Given the description of an element on the screen output the (x, y) to click on. 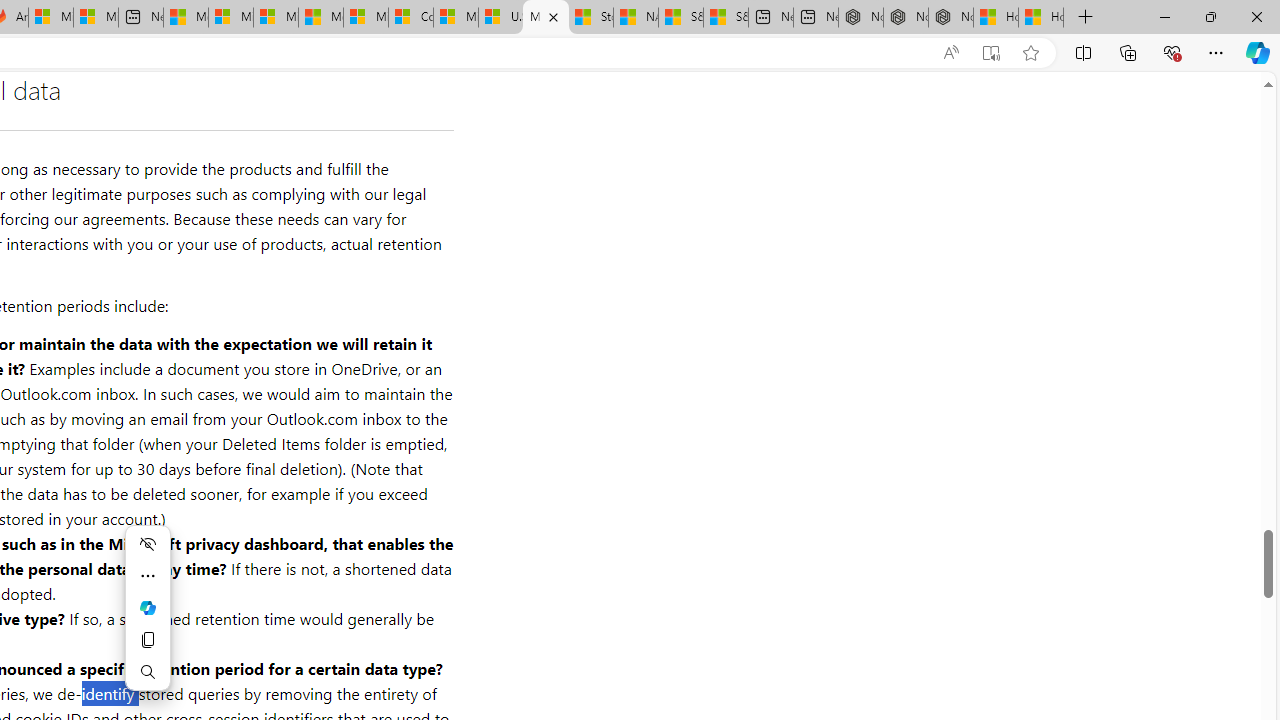
Microsoft account | Privacy (230, 17)
Ask Copilot (147, 607)
Consumer Health Data Privacy Policy (410, 17)
Mini menu on text selection (147, 607)
Hide menu (147, 543)
